Given the description of an element on the screen output the (x, y) to click on. 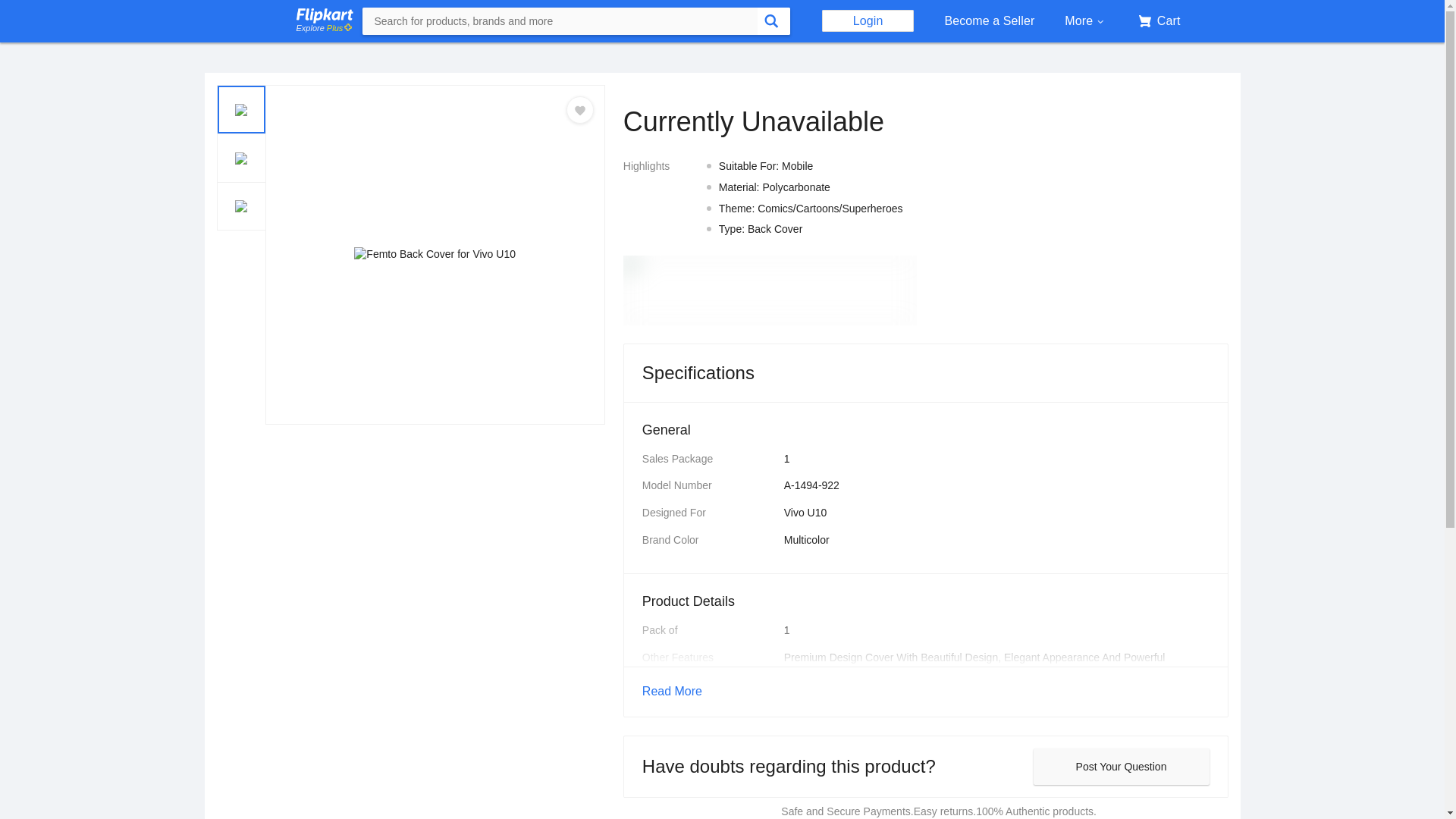
Flipkart (323, 15)
Explore Plus (323, 28)
Become a Seller (988, 21)
Post Your Question (1120, 766)
Read More (925, 691)
Cart (1156, 21)
Login (868, 20)
Search for products, brands and more (560, 21)
